Given the description of an element on the screen output the (x, y) to click on. 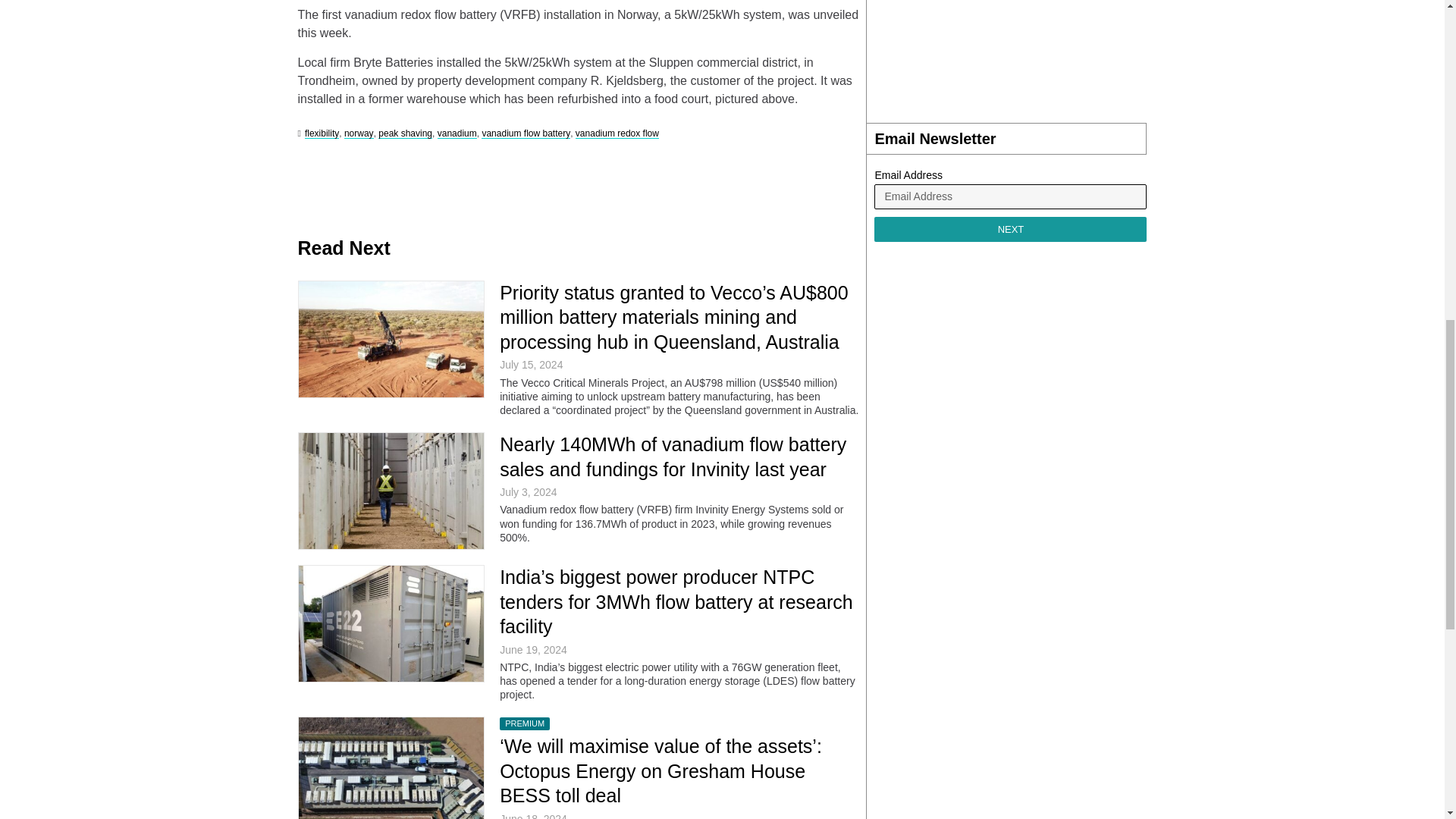
3rd party ad content (572, 182)
Australian Vanadium Drill-Rig-Photo (390, 339)
E22-india-vanadium-battery (390, 623)
invinity chappice lake stacks (390, 490)
3rd party ad content (1011, 53)
